Given the description of an element on the screen output the (x, y) to click on. 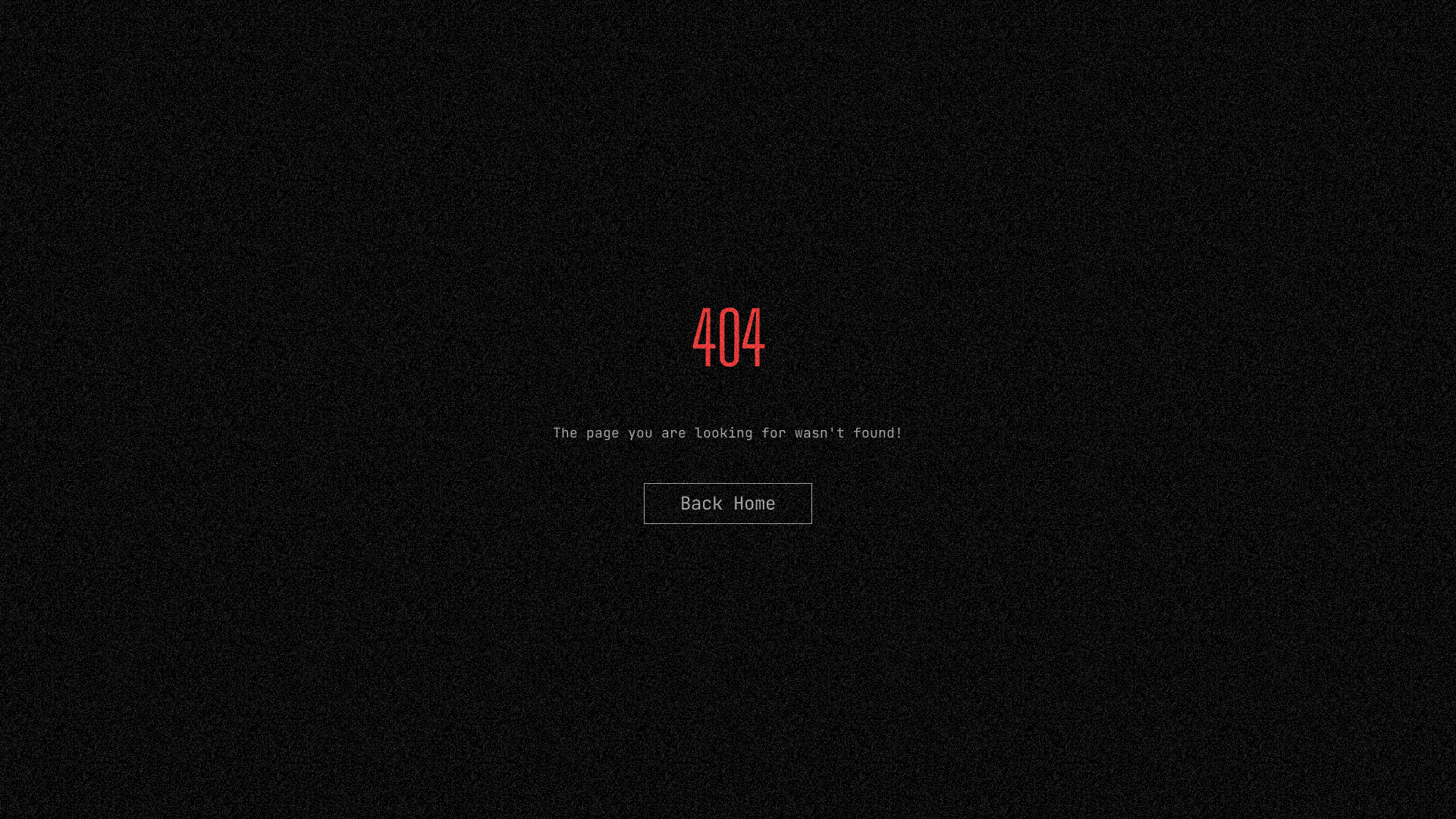
Back Home Element type: text (727, 503)
